Given the description of an element on the screen output the (x, y) to click on. 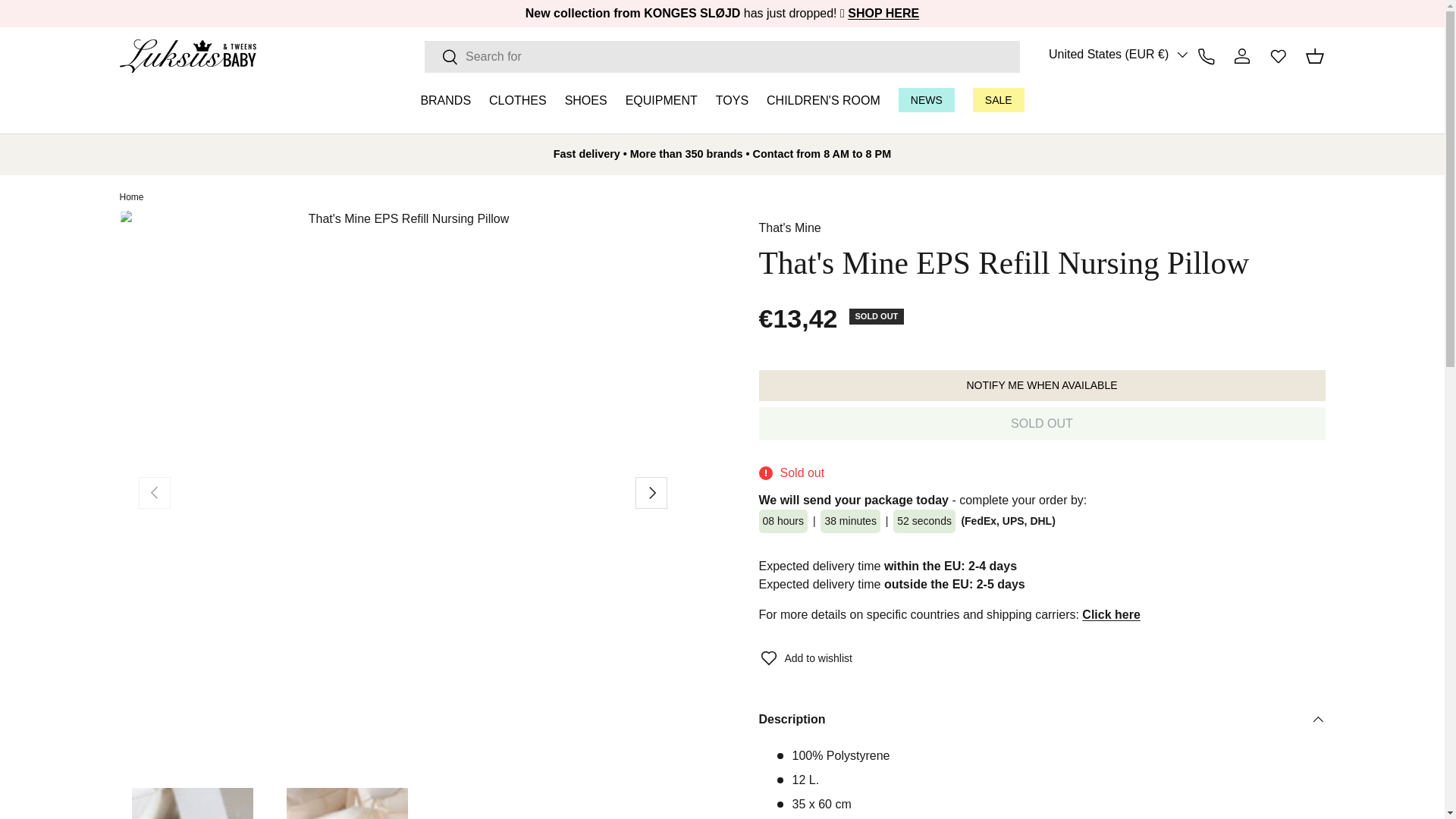
BRANDS (445, 100)
TOYS (732, 100)
SHOP HERE (882, 12)
NEWS (926, 100)
SHOES (585, 100)
Kontakt (1205, 55)
SKIP TO CONTENT (67, 20)
CLOTHES (518, 100)
Search (441, 57)
Basket (1314, 55)
